Given the description of an element on the screen output the (x, y) to click on. 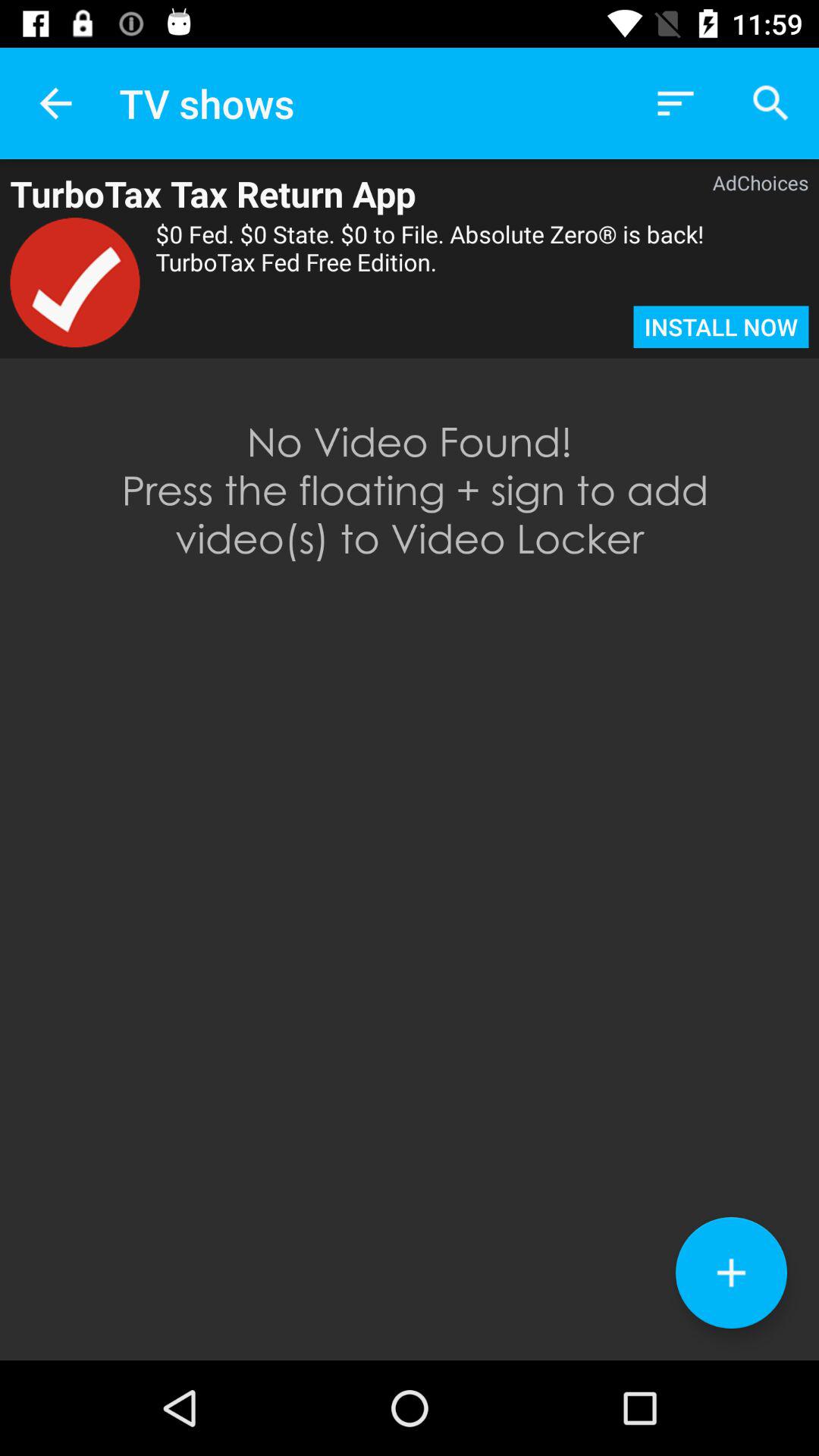
click the item below the turbotax tax return (74, 282)
